Given the description of an element on the screen output the (x, y) to click on. 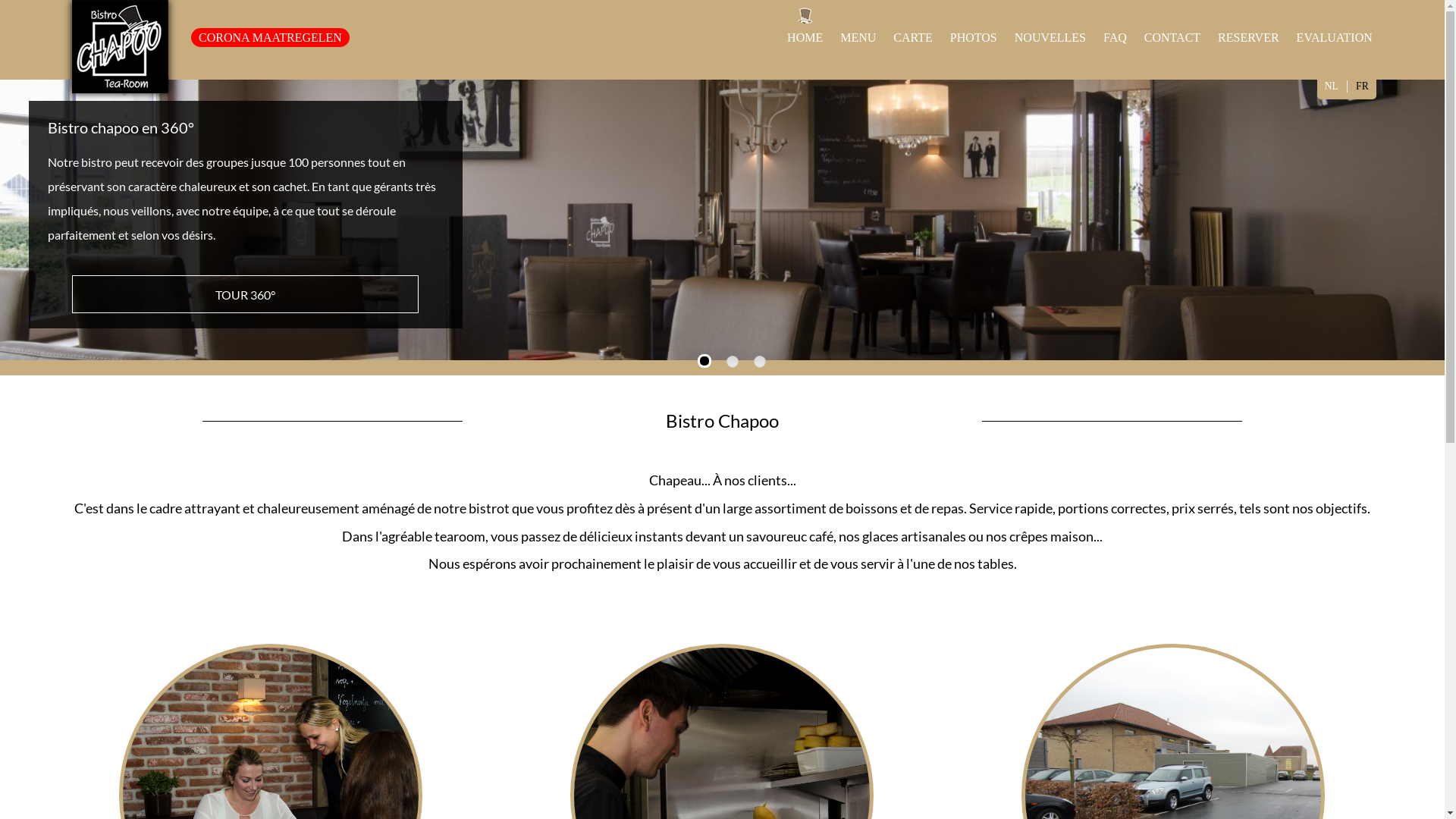
CARTE Element type: text (912, 37)
RESERVER Element type: text (1248, 37)
MENU Element type: text (857, 37)
PHOTOS Element type: text (973, 37)
FAQ Element type: text (1114, 37)
EVALUATION Element type: text (1334, 37)
FR Element type: text (1362, 85)
CONTACT Element type: text (1172, 37)
NL Element type: text (1331, 85)
NOUVELLES Element type: text (1049, 37)
CORONA MAATREGELEN Element type: text (270, 37)
HOME Element type: text (804, 37)
